Given the description of an element on the screen output the (x, y) to click on. 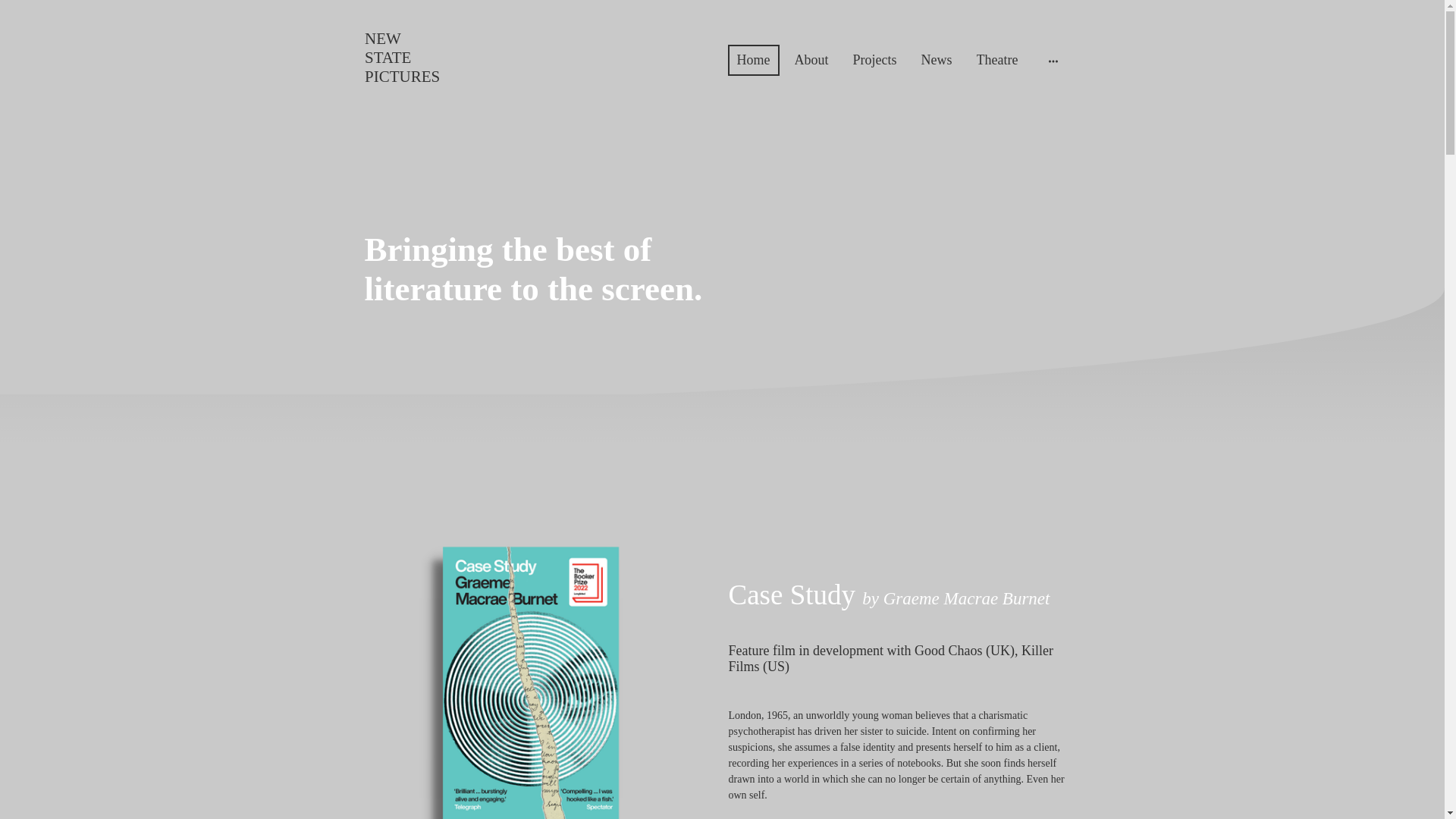
News (936, 59)
Theatre (997, 59)
About (418, 101)
Projects (811, 59)
Home (418, 58)
